Given the description of an element on the screen output the (x, y) to click on. 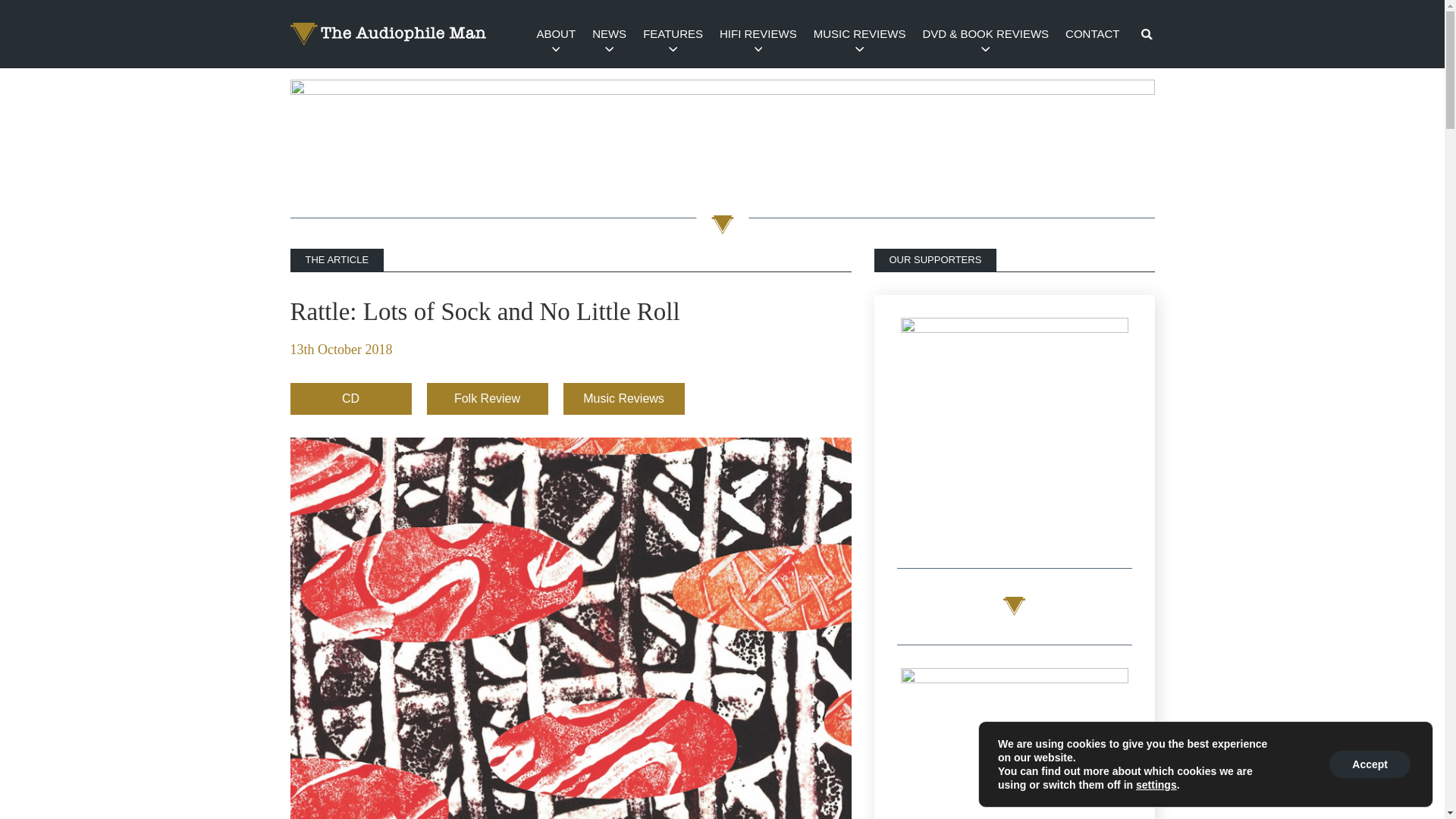
HIFI REVIEWS (758, 33)
FEATURES (672, 33)
MUSIC REVIEWS (859, 33)
